Given the description of an element on the screen output the (x, y) to click on. 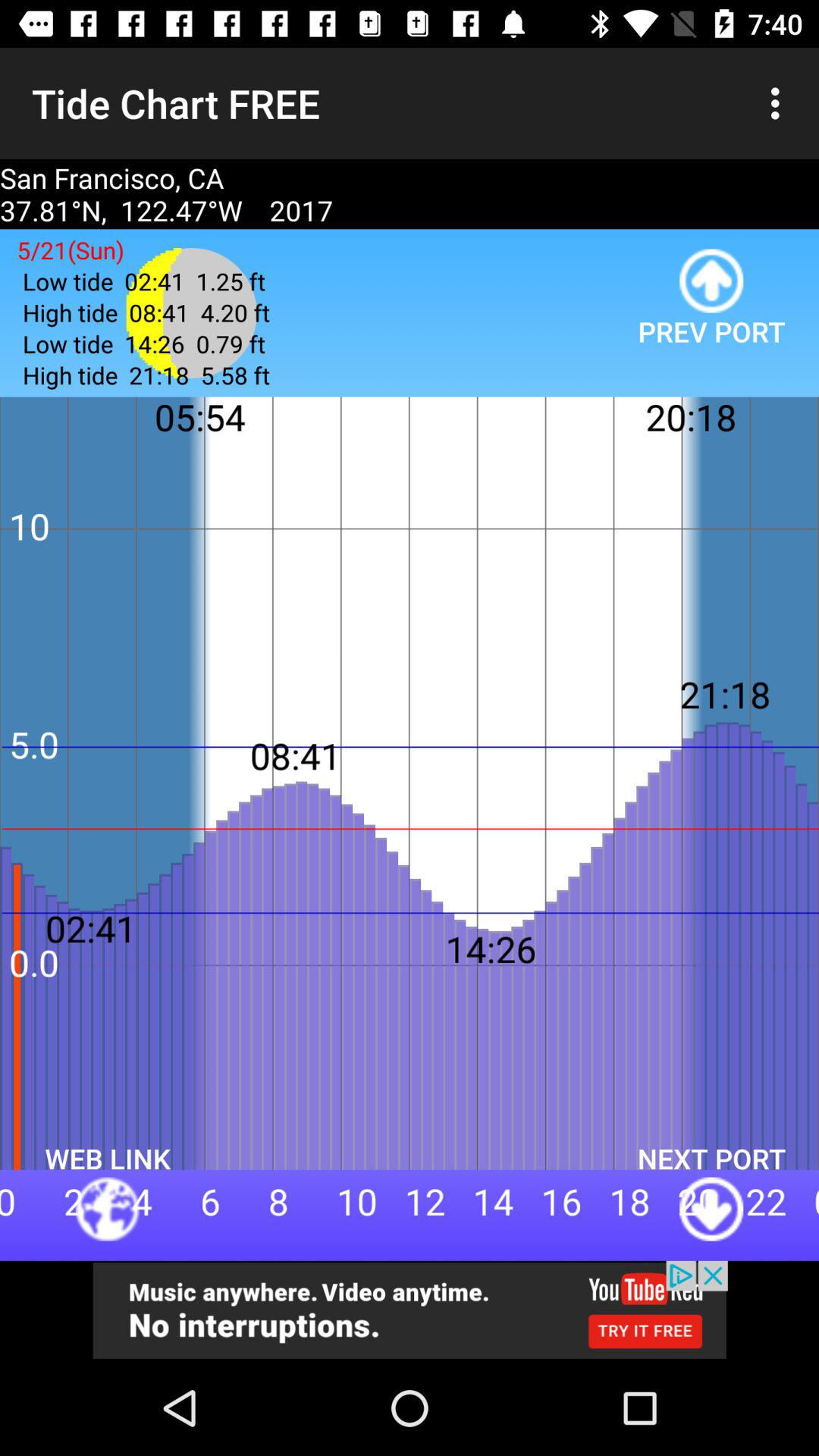
its an advertisement (409, 1310)
